Given the description of an element on the screen output the (x, y) to click on. 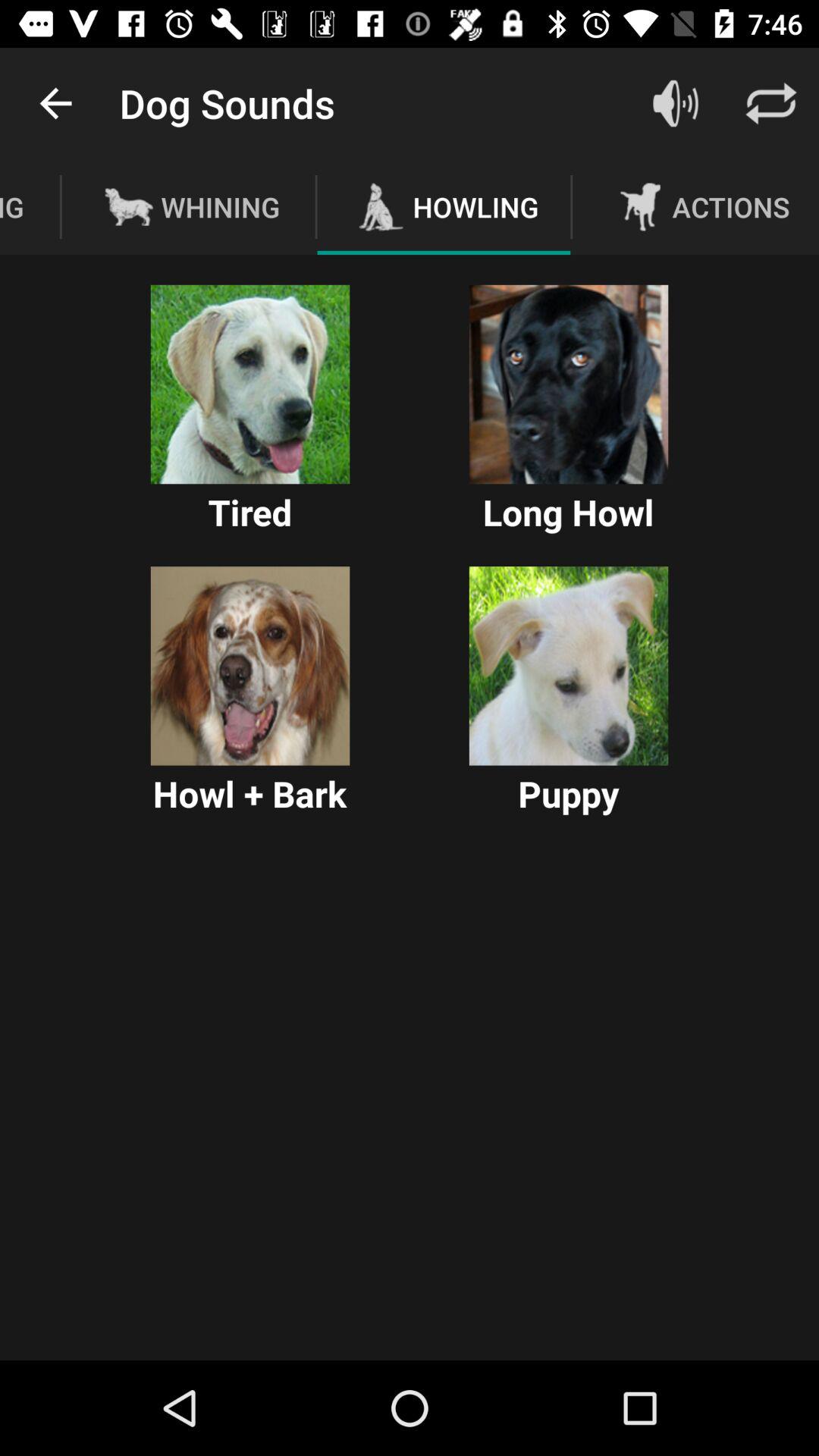
play sound (568, 384)
